Given the description of an element on the screen output the (x, y) to click on. 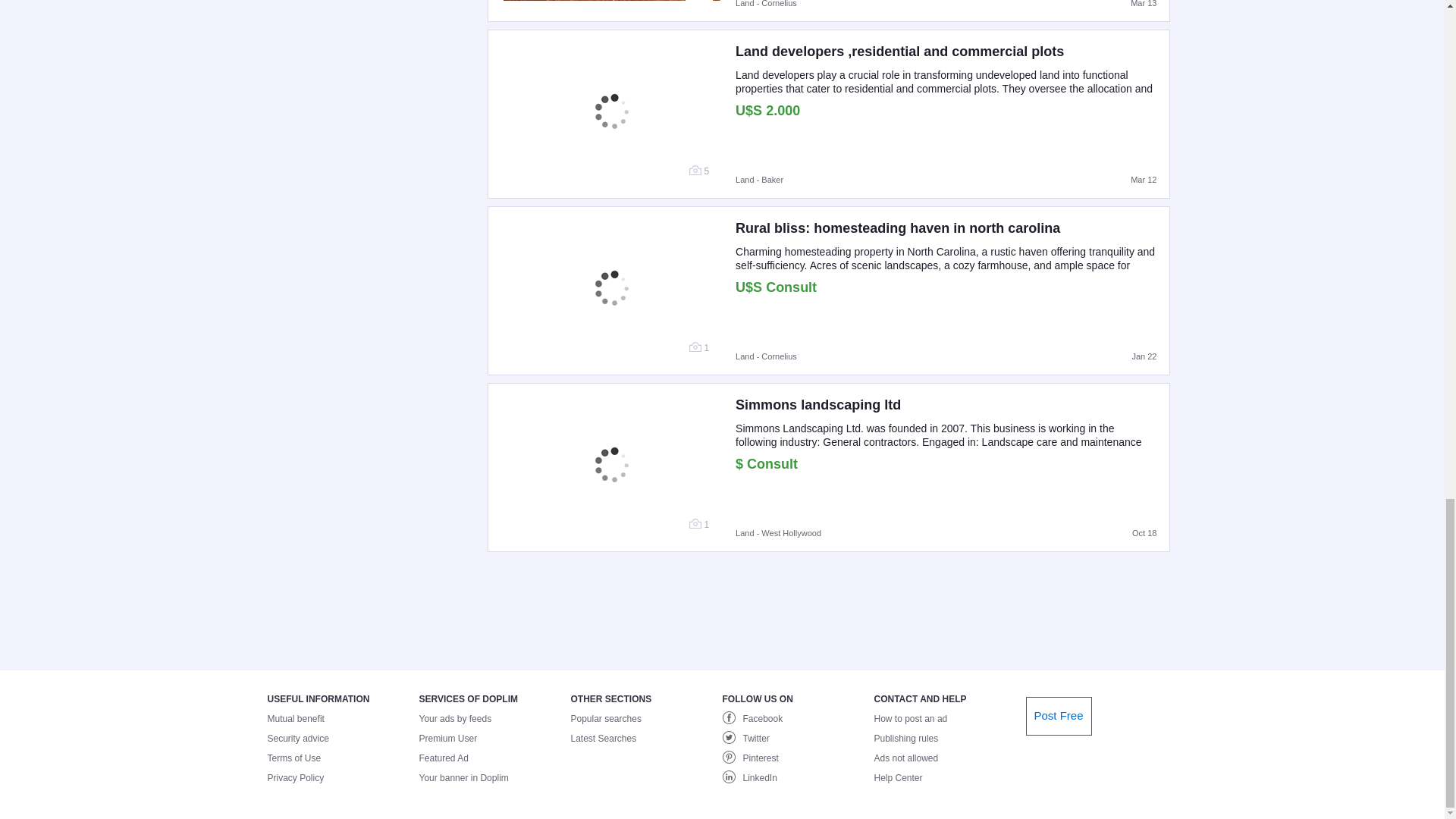
Privacy Policy (342, 777)
Your ads by feeds (494, 718)
Terms of Use (342, 757)
Security advice (342, 738)
Mutual benefit (342, 718)
